Given the description of an element on the screen output the (x, y) to click on. 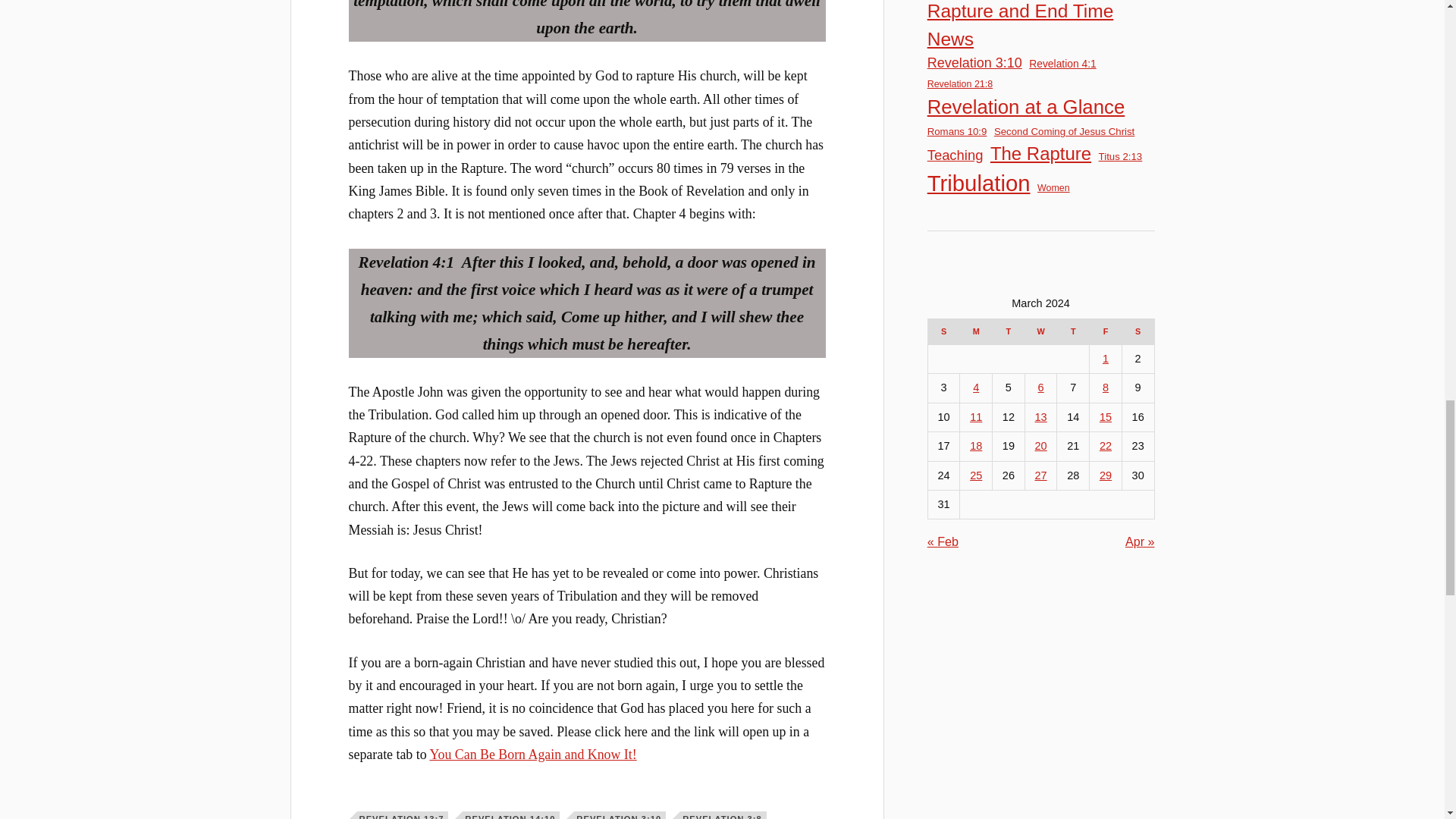
REVELATION 14:10 (511, 815)
Friday (1105, 330)
Sunday (943, 330)
REVELATION 3:8 (723, 815)
Monday (975, 330)
Thursday (1073, 330)
Wednesday (1041, 330)
REVELATION 13:7 (402, 815)
REVELATION 3:10 (619, 815)
You Can Be Born Again and Know It! (532, 754)
